Given the description of an element on the screen output the (x, y) to click on. 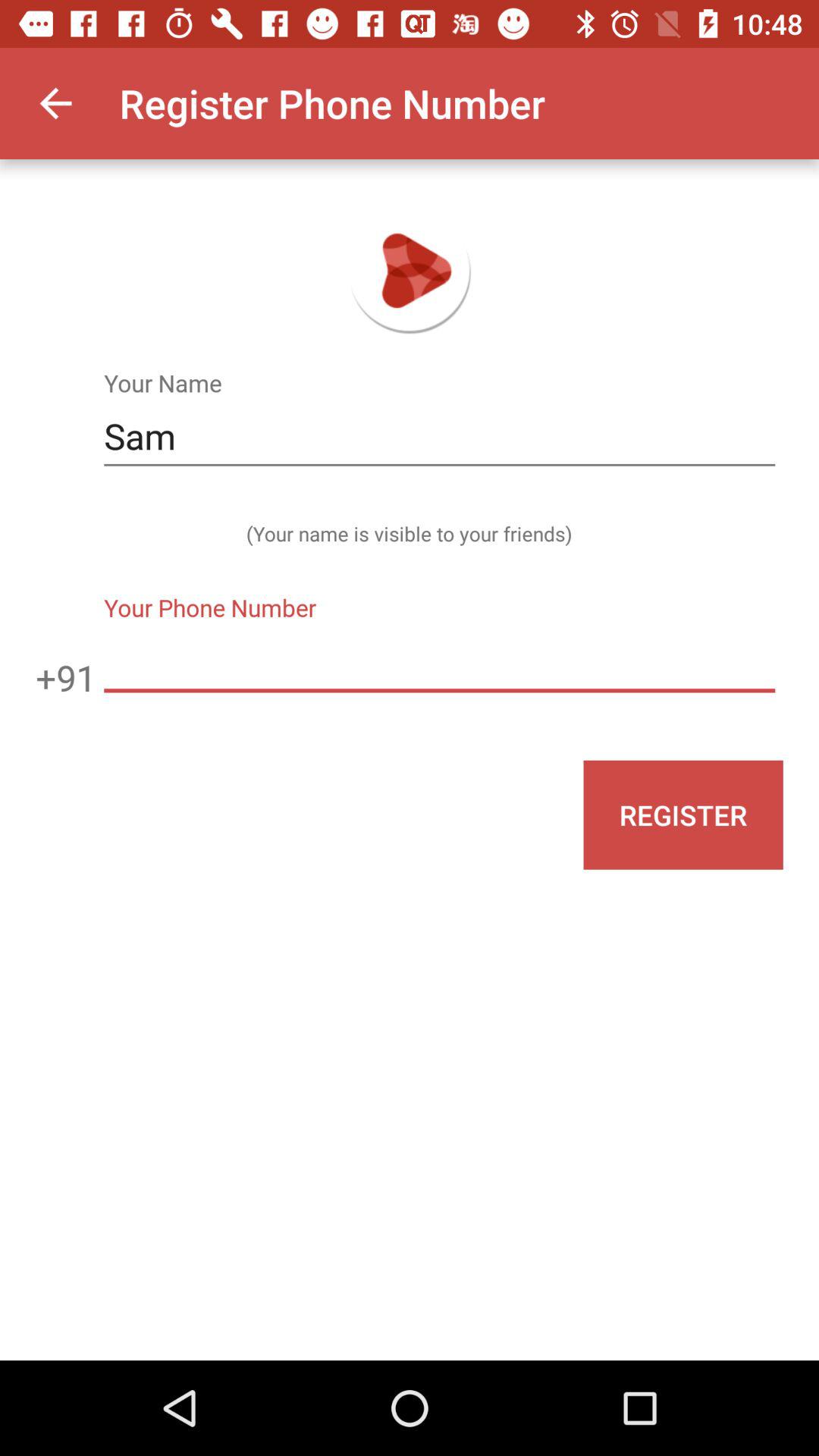
turn off icon above register (439, 661)
